Given the description of an element on the screen output the (x, y) to click on. 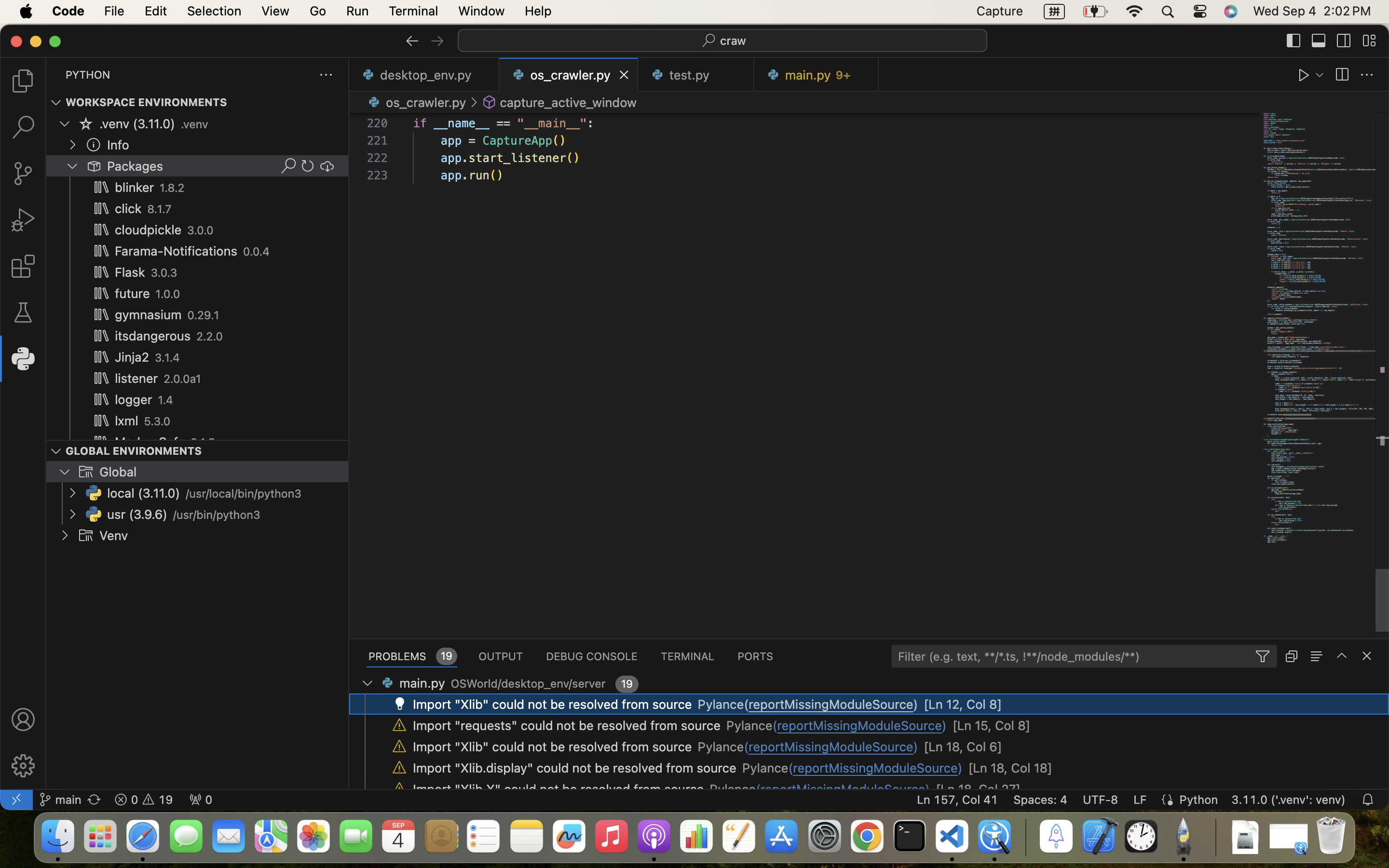
 Element type: AXStaticText (22, 765)
8.1.7 Element type: AXStaticText (159, 209)
/usr/local/bin/python3 Element type: AXStaticText (243, 493)
Jinja2 Element type: AXStaticText (131, 357)
lxml Element type: AXStaticText (126, 420)
